Given the description of an element on the screen output the (x, y) to click on. 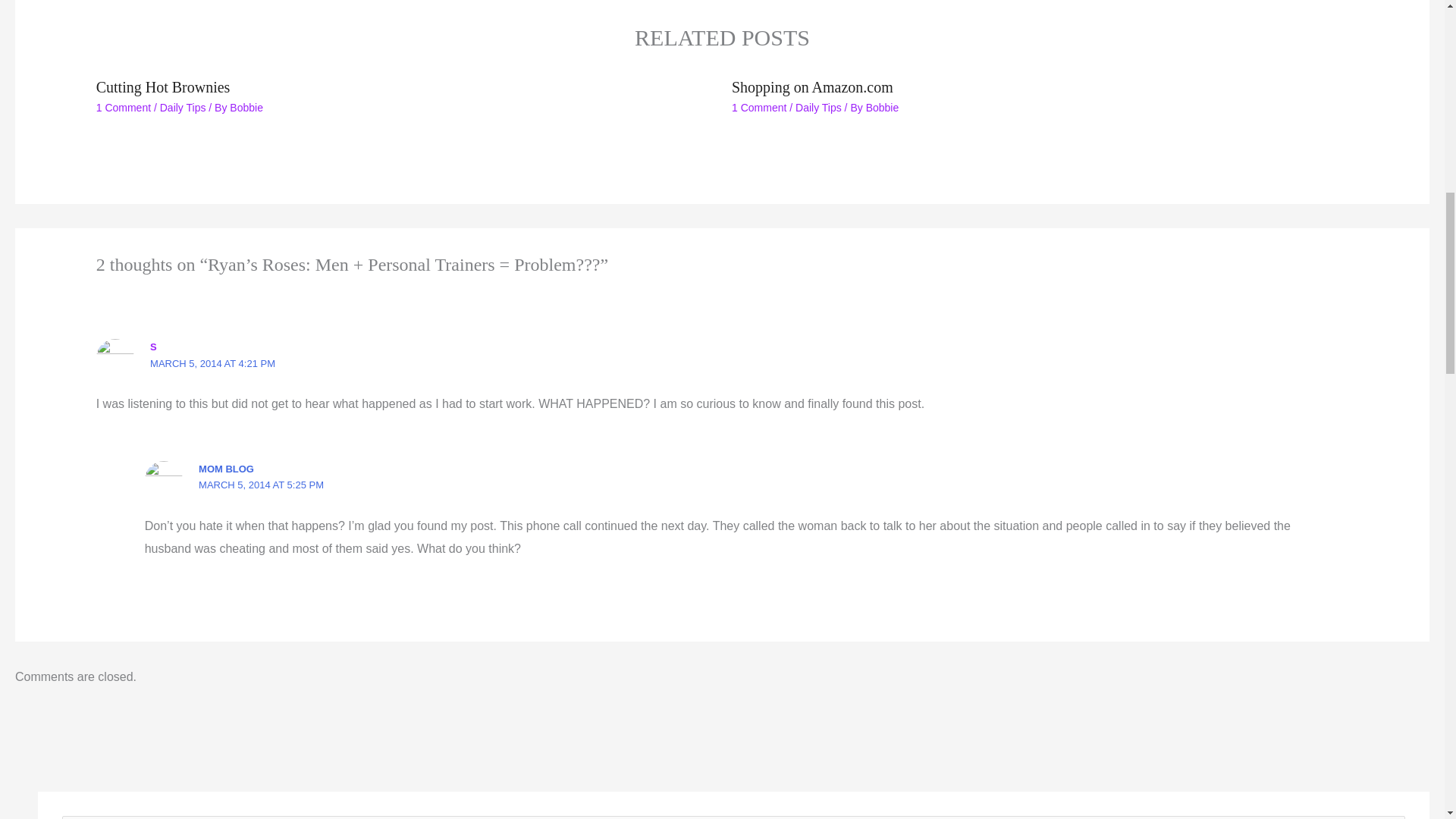
View all posts by Bobbie (246, 107)
Search (1388, 817)
1 Comment (759, 107)
Bobbie (246, 107)
Daily Tips (817, 107)
View all posts by Bobbie (882, 107)
Search (1388, 817)
Daily Tips (183, 107)
Shopping on Amazon.com (812, 86)
Cutting Hot Brownies (163, 86)
